Given the description of an element on the screen output the (x, y) to click on. 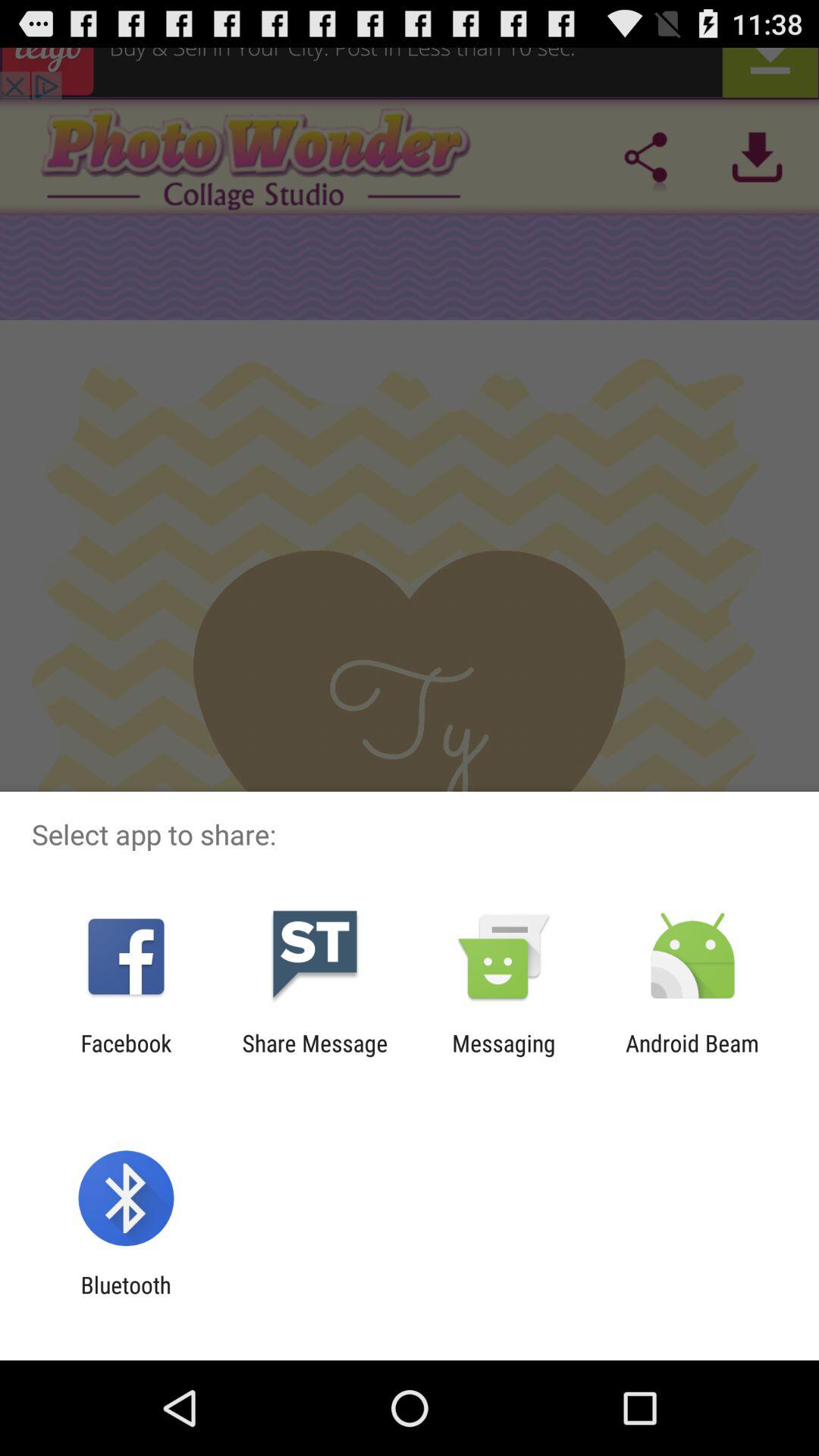
scroll to the share message (314, 1056)
